Given the description of an element on the screen output the (x, y) to click on. 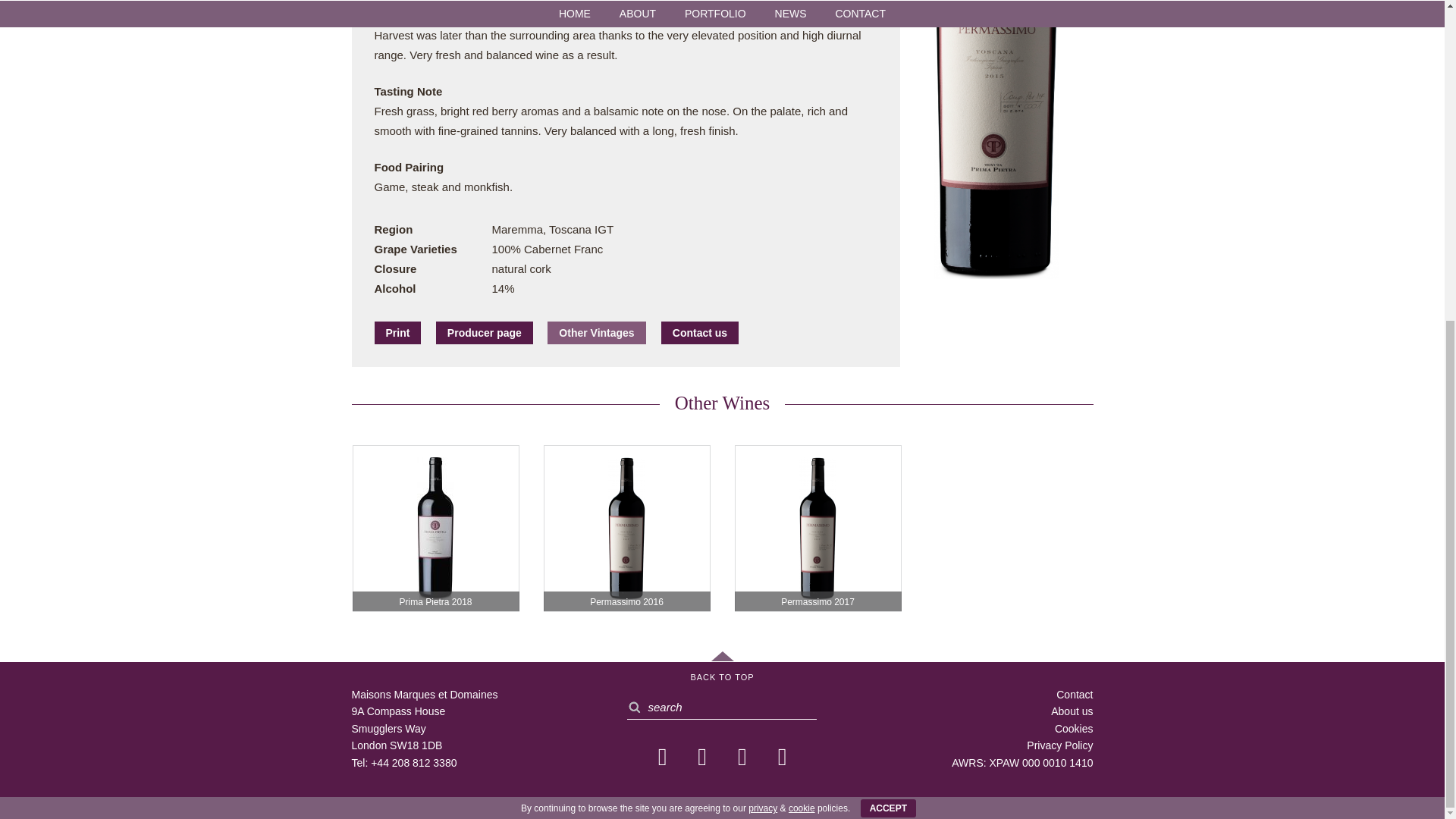
Producer page (483, 332)
Privacy Policy (1059, 745)
Permassimo 2017 (817, 528)
AWRS: XPAW 000 0010 1410 (1022, 762)
Contact us (699, 332)
About us (1072, 711)
Prima Pietra 2018 (435, 528)
Print (398, 332)
Contact (1075, 694)
BACK TO TOP (722, 667)
